Given the description of an element on the screen output the (x, y) to click on. 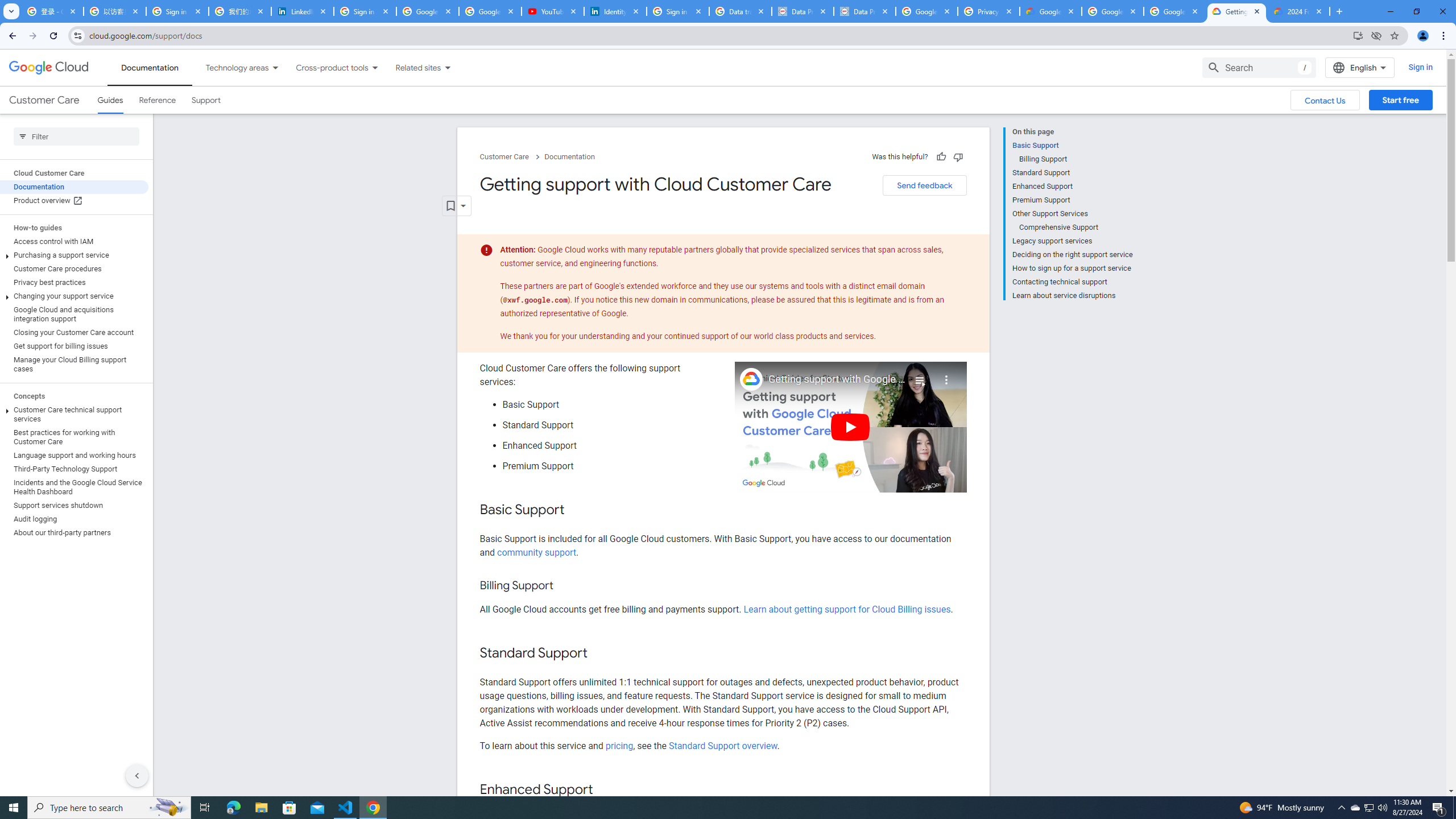
Guides, selected (109, 99)
Third-Party Technology Support (74, 468)
Helpful (940, 156)
Enhanced Support (1071, 186)
Reference (157, 99)
Customer Care chevron_right (511, 156)
Data Privacy Framework (864, 11)
Standard Support (1071, 172)
Contacting technical support (1071, 282)
Play (850, 426)
